Given the description of an element on the screen output the (x, y) to click on. 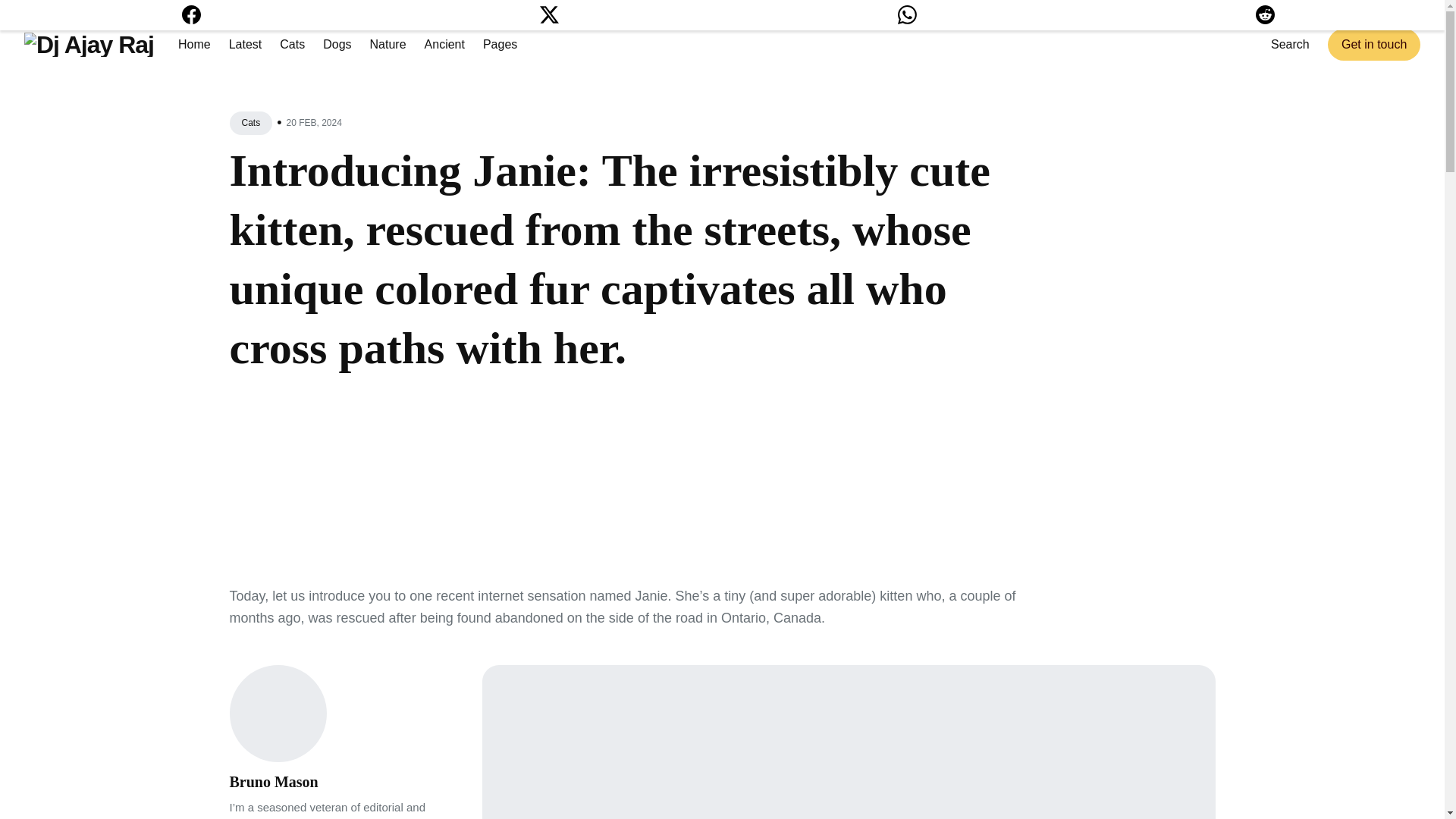
Share on Twitter (549, 18)
Cats (250, 123)
Bruno Mason (272, 781)
Latest (245, 43)
Share on WhatsApp (907, 18)
Nature (387, 43)
Ancient (444, 43)
Dogs (336, 43)
Get in touch (1374, 44)
Home (194, 43)
